Given the description of an element on the screen output the (x, y) to click on. 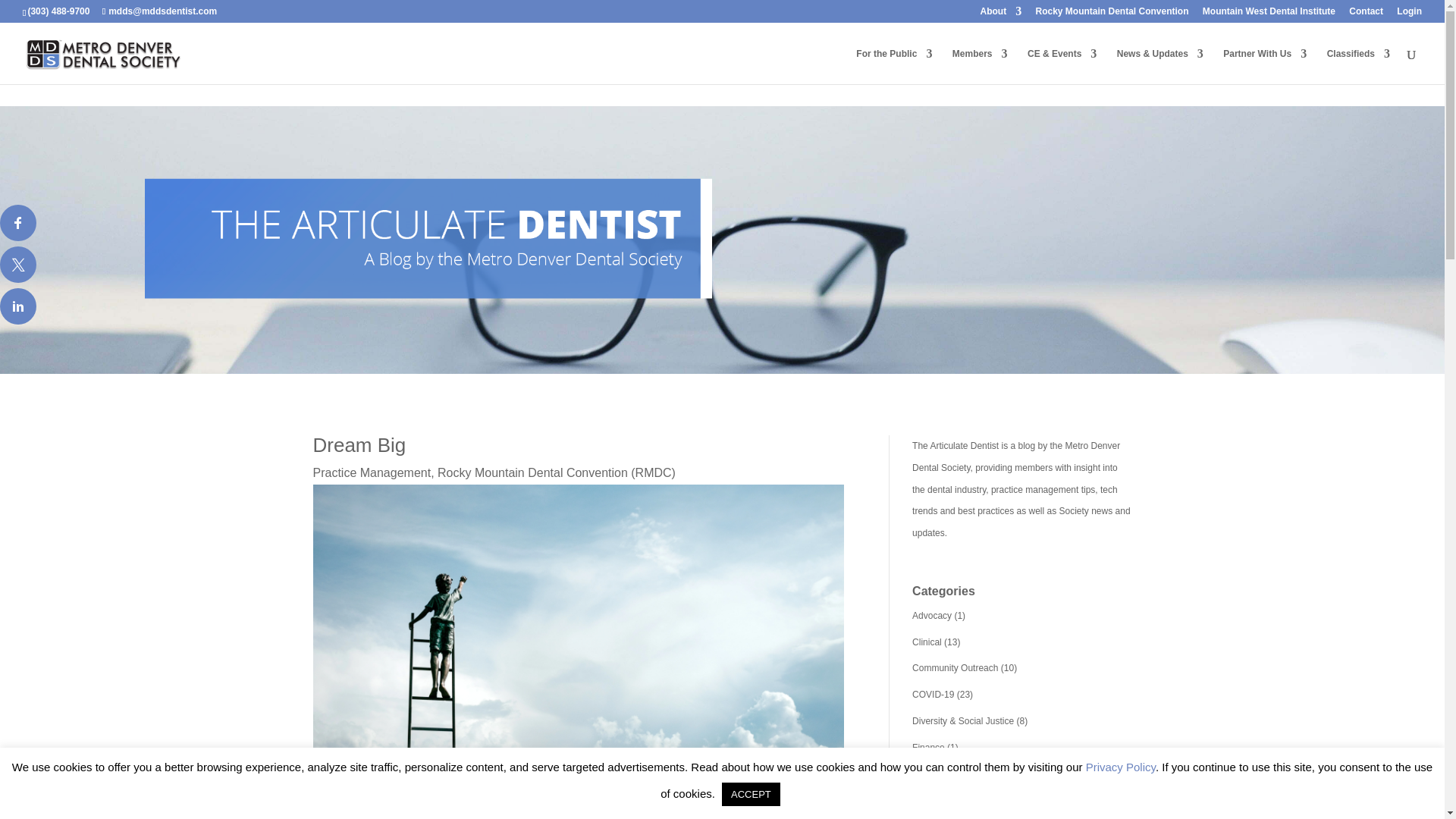
About (1000, 14)
Rocky Mountain Dental Convention (1112, 14)
Contact (1366, 14)
For the Public (893, 66)
Partner With Us (1264, 66)
Login (1409, 14)
Mountain West Dental Institute (1268, 14)
Members (979, 66)
